Given the description of an element on the screen output the (x, y) to click on. 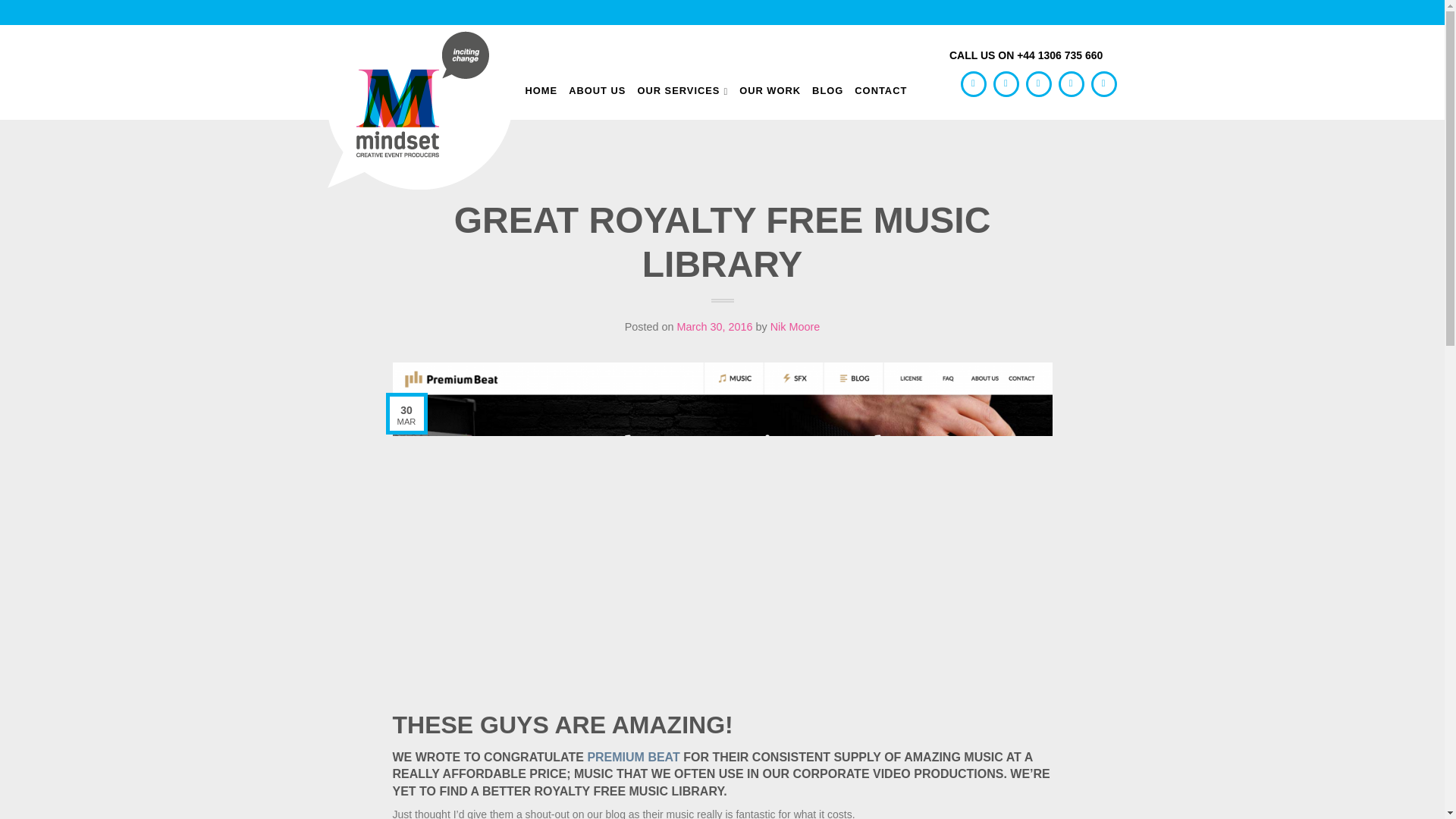
Mindset Communications -  (418, 107)
Follow us on Instagram (1038, 84)
CONTACT (880, 90)
March 30, 2016 (714, 326)
OUR WORK (769, 90)
PREMIUM BEAT (632, 757)
Nik Moore (795, 326)
ABOUT US (597, 90)
HOME (540, 90)
BLOG (827, 90)
Follow us on YouTube (1103, 84)
OUR SERVICES (682, 90)
Follow us on LinkedIn (1071, 84)
Follow us on Twitter (973, 84)
